Given the description of an element on the screen output the (x, y) to click on. 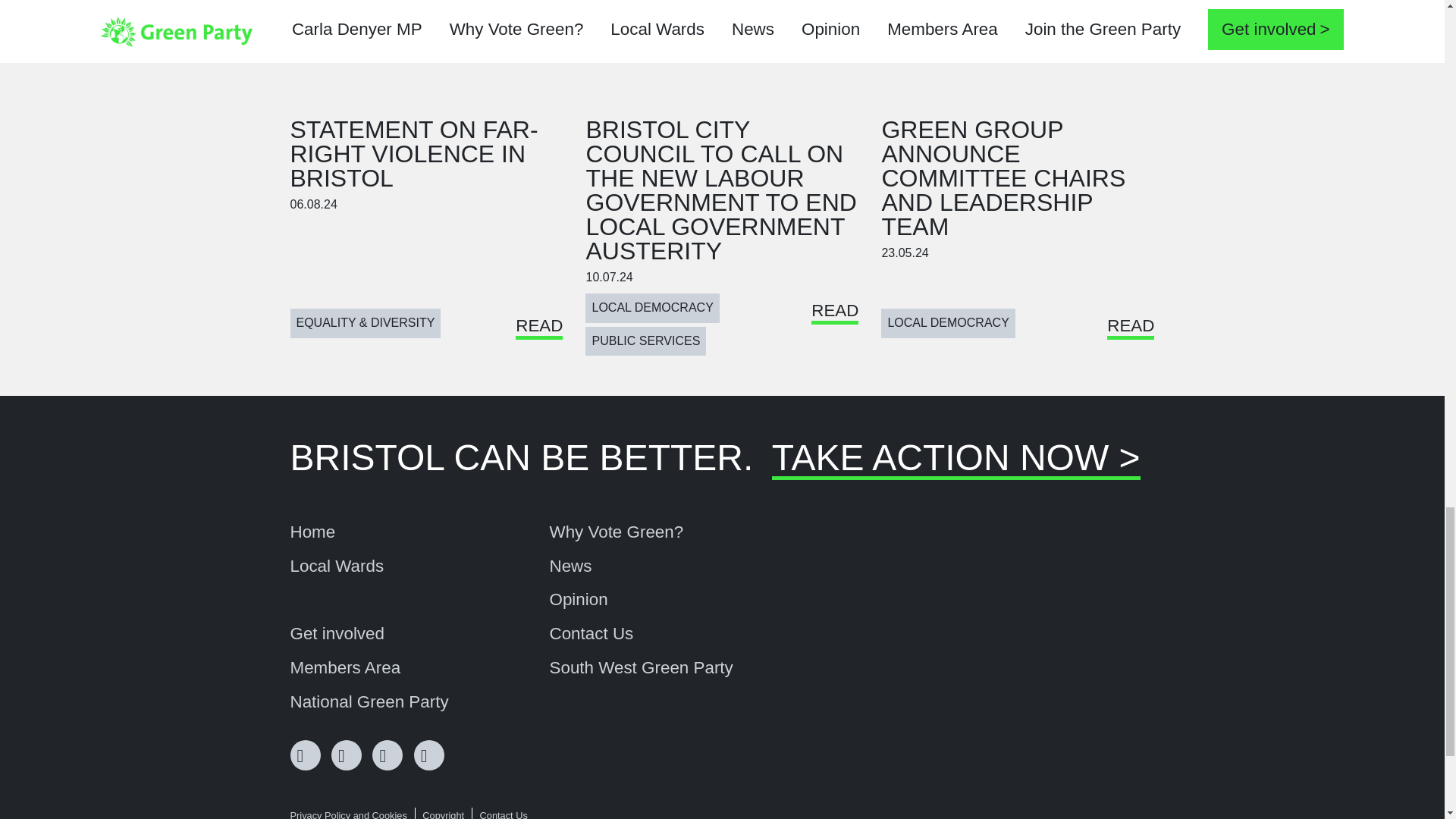
PUBLIC SERVICES (645, 340)
Get involved (336, 633)
LOCAL DEMOCRACY (947, 322)
News (569, 565)
Local Wards (336, 565)
Why Vote Green? (615, 532)
Opinion (577, 599)
LOCAL DEMOCRACY (652, 307)
South West Green Party (640, 668)
Contact Us (590, 633)
